Given the description of an element on the screen output the (x, y) to click on. 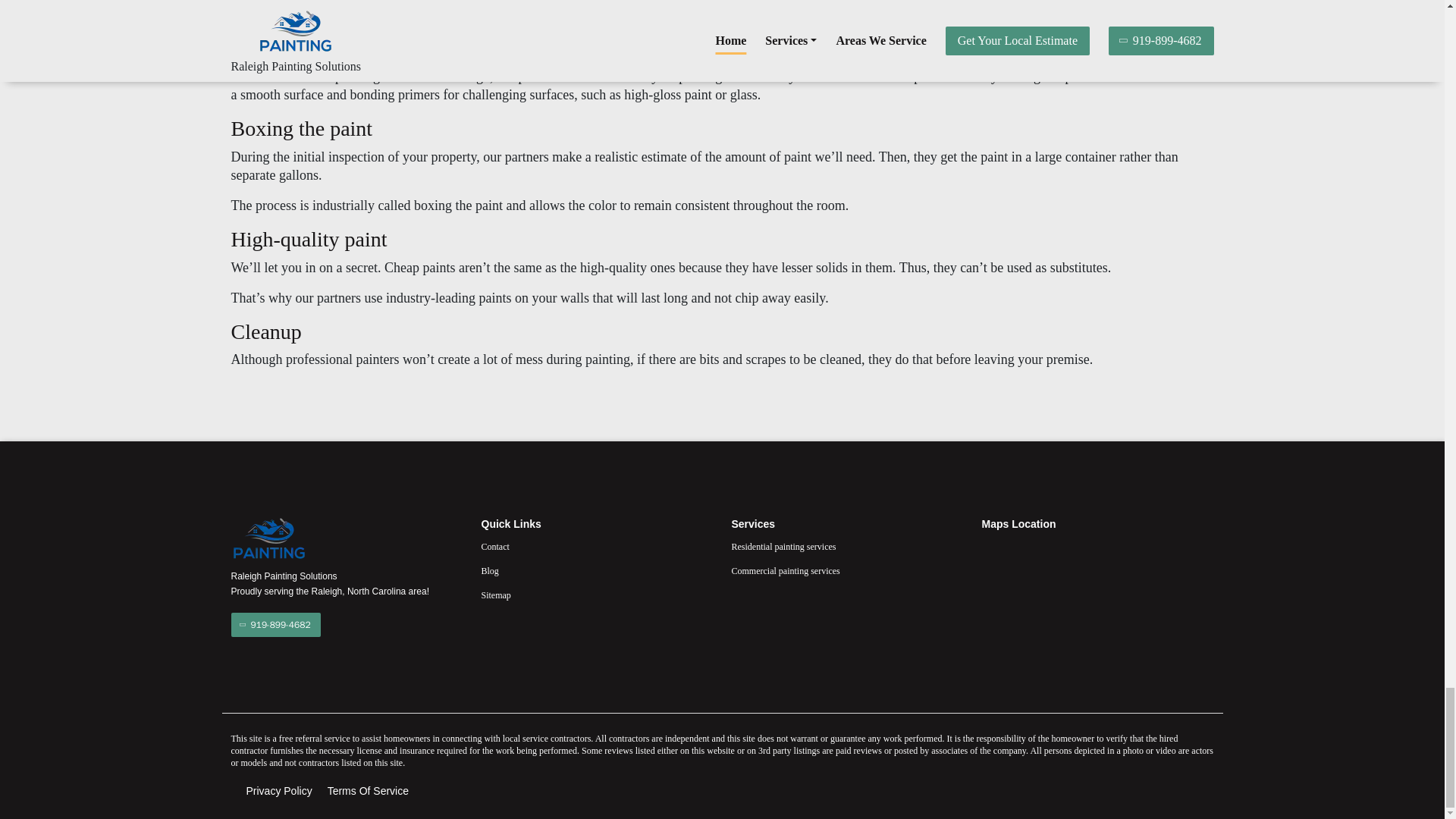
Terms Of Service (368, 791)
Commercial painting services (846, 570)
Privacy Policy (278, 791)
Residential painting services (846, 546)
919-899-4682 (275, 624)
Blog (596, 570)
Contact (596, 546)
Sitemap (596, 595)
